Given the description of an element on the screen output the (x, y) to click on. 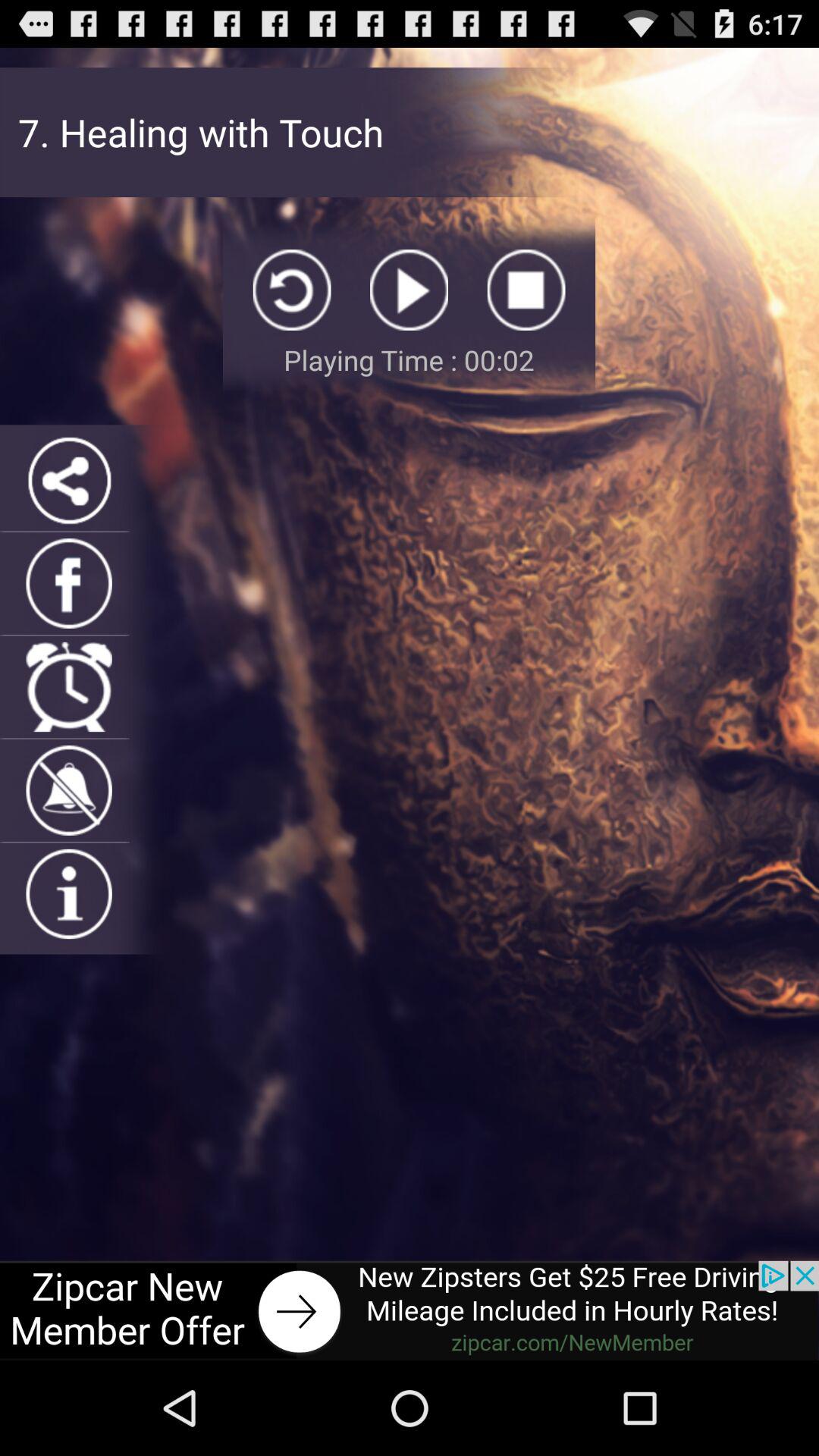
replay button (292, 289)
